Given the description of an element on the screen output the (x, y) to click on. 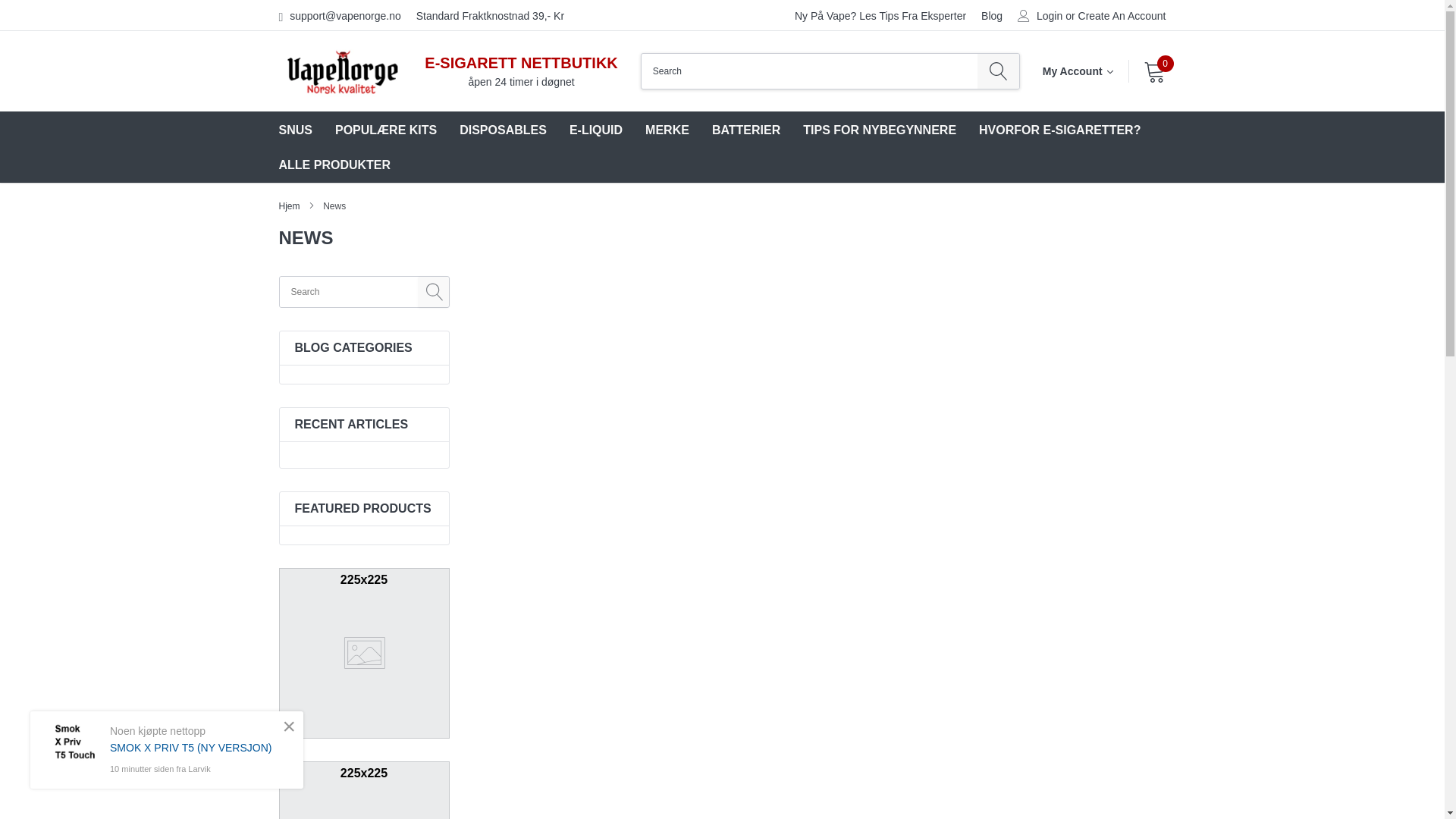
Blog (992, 15)
Login (1049, 15)
E-SIGARETT NETTBUTIKK (521, 62)
search (997, 71)
Close (288, 726)
Create An Account (1122, 15)
